Given the description of an element on the screen output the (x, y) to click on. 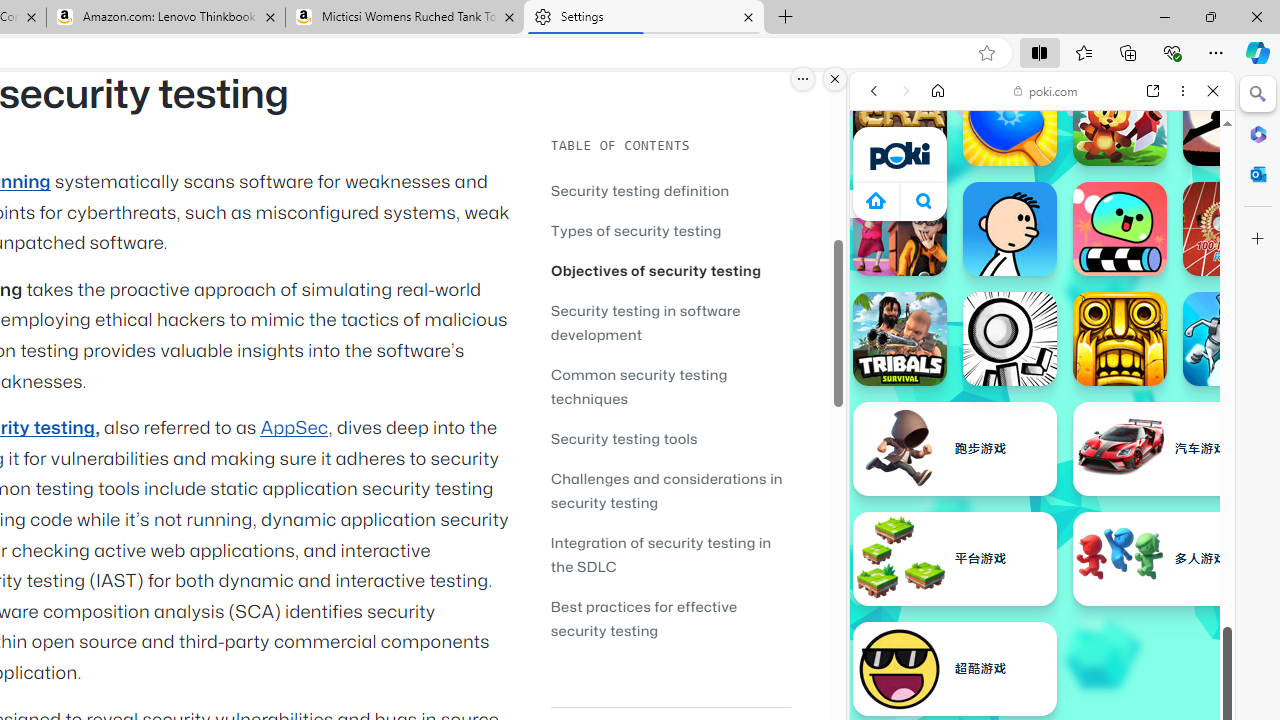
Temple Run 2 Temple Run 2 (1119, 338)
G-Switch 3 (1229, 338)
Common security testing techniques (670, 386)
School Escape! School Escape! (899, 228)
poki.com (1046, 90)
Ping Pong Go! (1009, 119)
100 Metres Race (1229, 228)
Ping Pong Go! Ping Pong Go! (1009, 119)
Fox Island Builder (1119, 119)
